Given the description of an element on the screen output the (x, y) to click on. 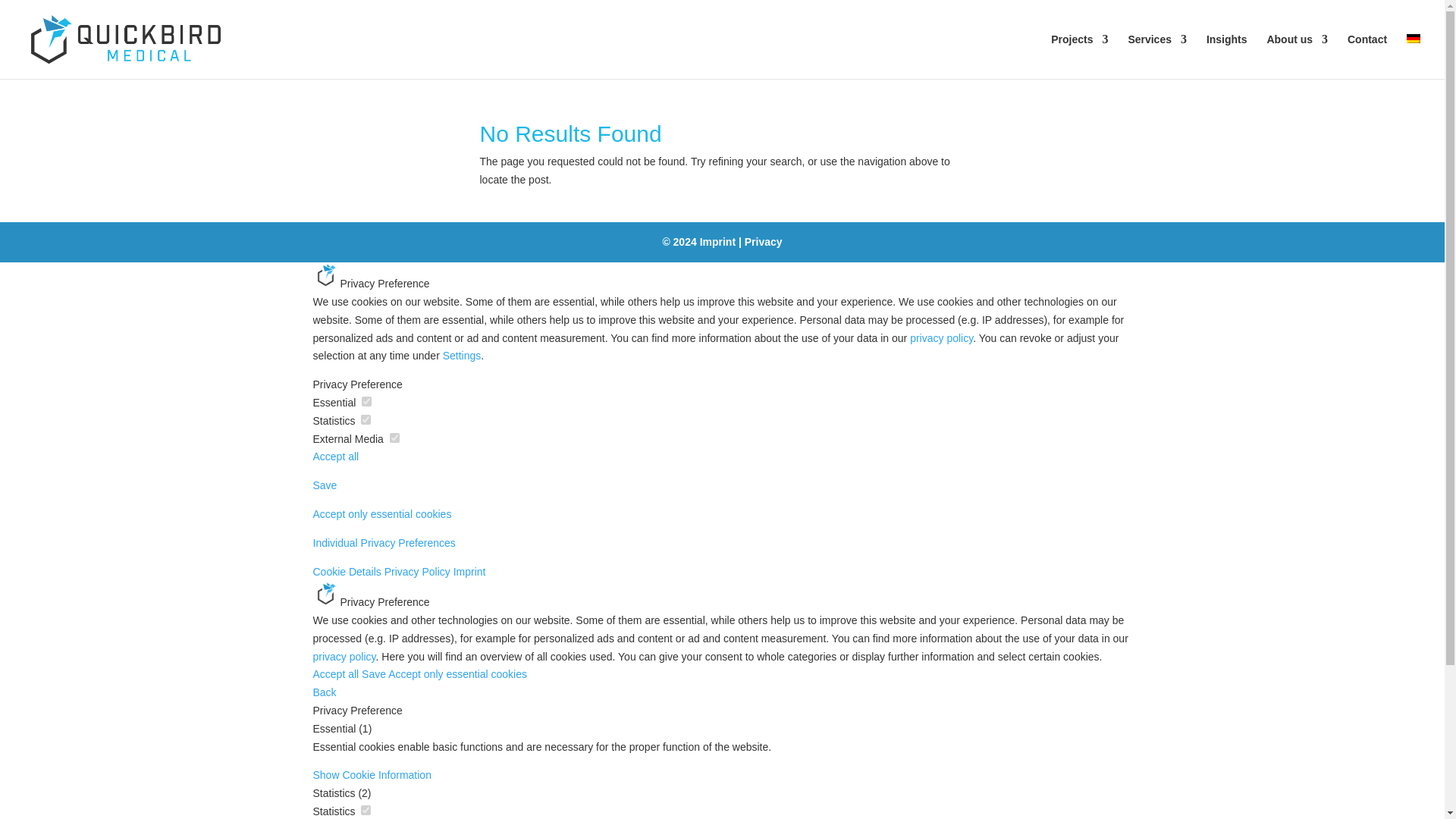
About us (1296, 56)
Privacy (763, 241)
statistics (366, 809)
essential (366, 401)
privacy policy (941, 337)
statistics (366, 419)
Services (1156, 56)
external-media (394, 438)
Imprint (717, 241)
Insights (1227, 56)
